Given the description of an element on the screen output the (x, y) to click on. 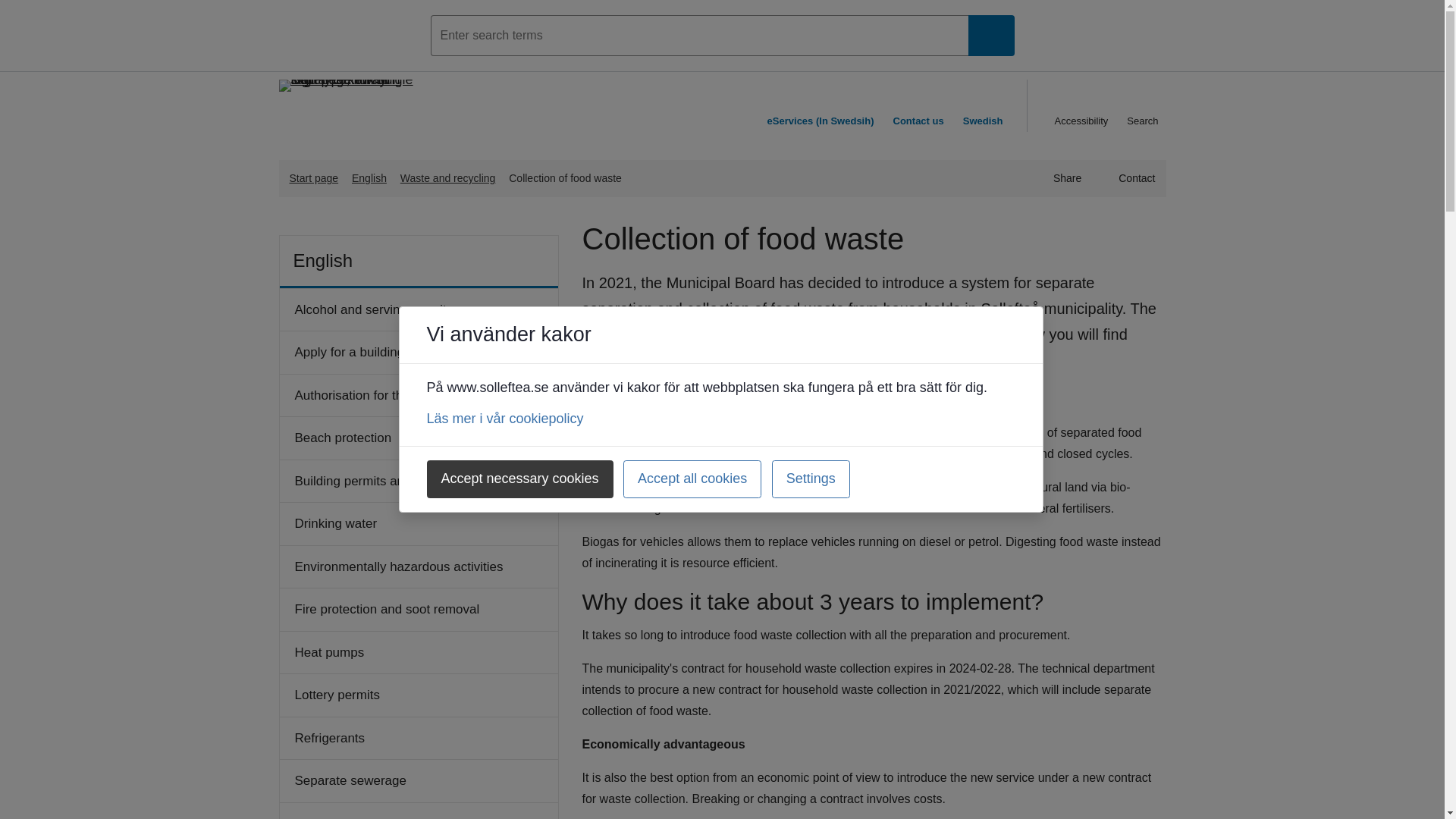
Accessibility (1080, 105)
Settings (810, 478)
Contact us (918, 105)
Start page (311, 177)
English (371, 177)
Waste and recycling (450, 177)
Share (1059, 178)
Accept all cookies (692, 478)
Swedish (991, 105)
Contact (1129, 178)
